Given the description of an element on the screen output the (x, y) to click on. 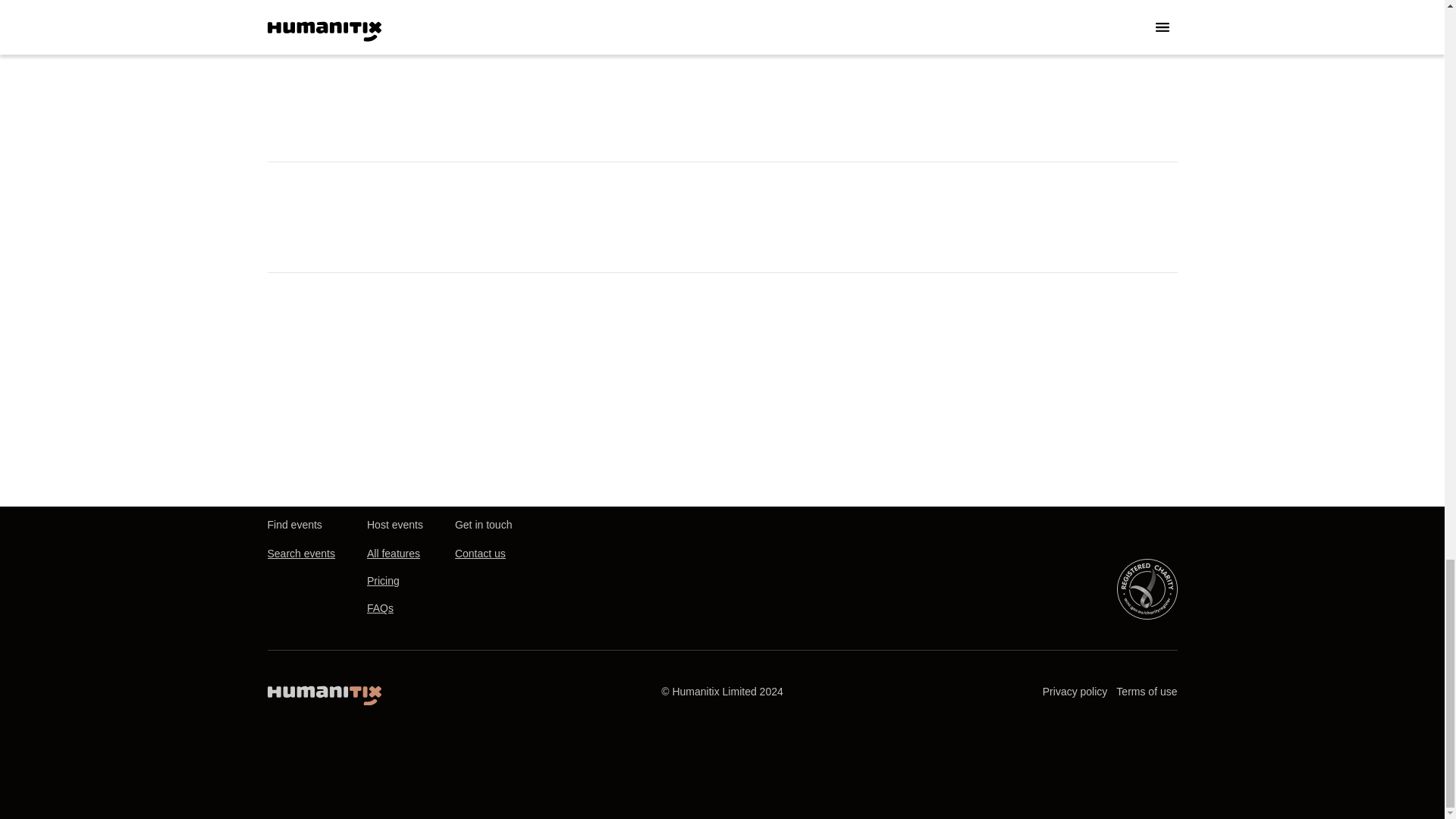
Terms of use (1146, 691)
Contact us (479, 554)
FAQs (379, 608)
Pricing (382, 581)
Search events (300, 554)
All features (393, 554)
Privacy policy (1075, 691)
